Given the description of an element on the screen output the (x, y) to click on. 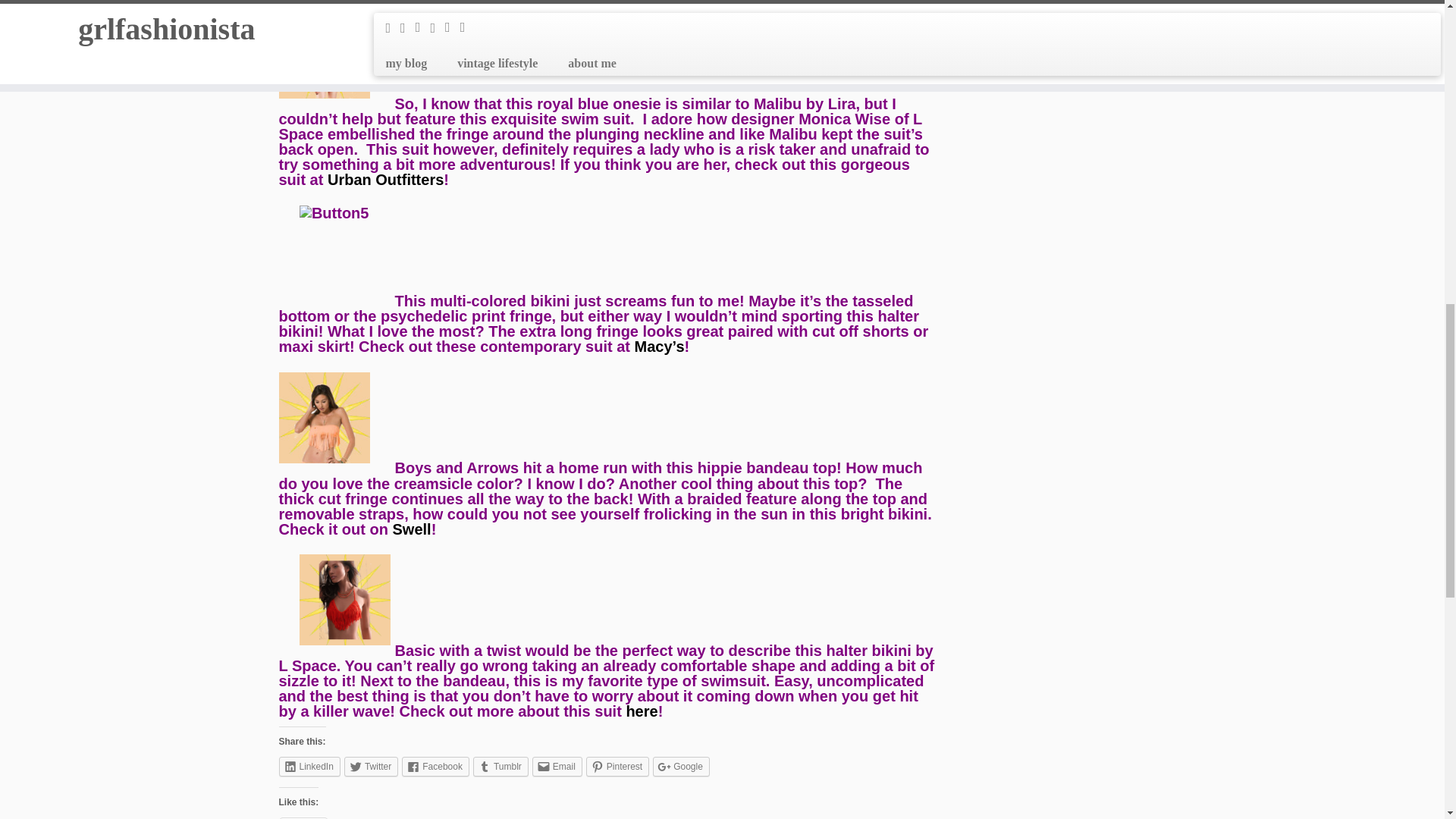
here (642, 710)
Urban Outfitters (385, 179)
Swell (411, 528)
LinkedIn (309, 766)
